Given the description of an element on the screen output the (x, y) to click on. 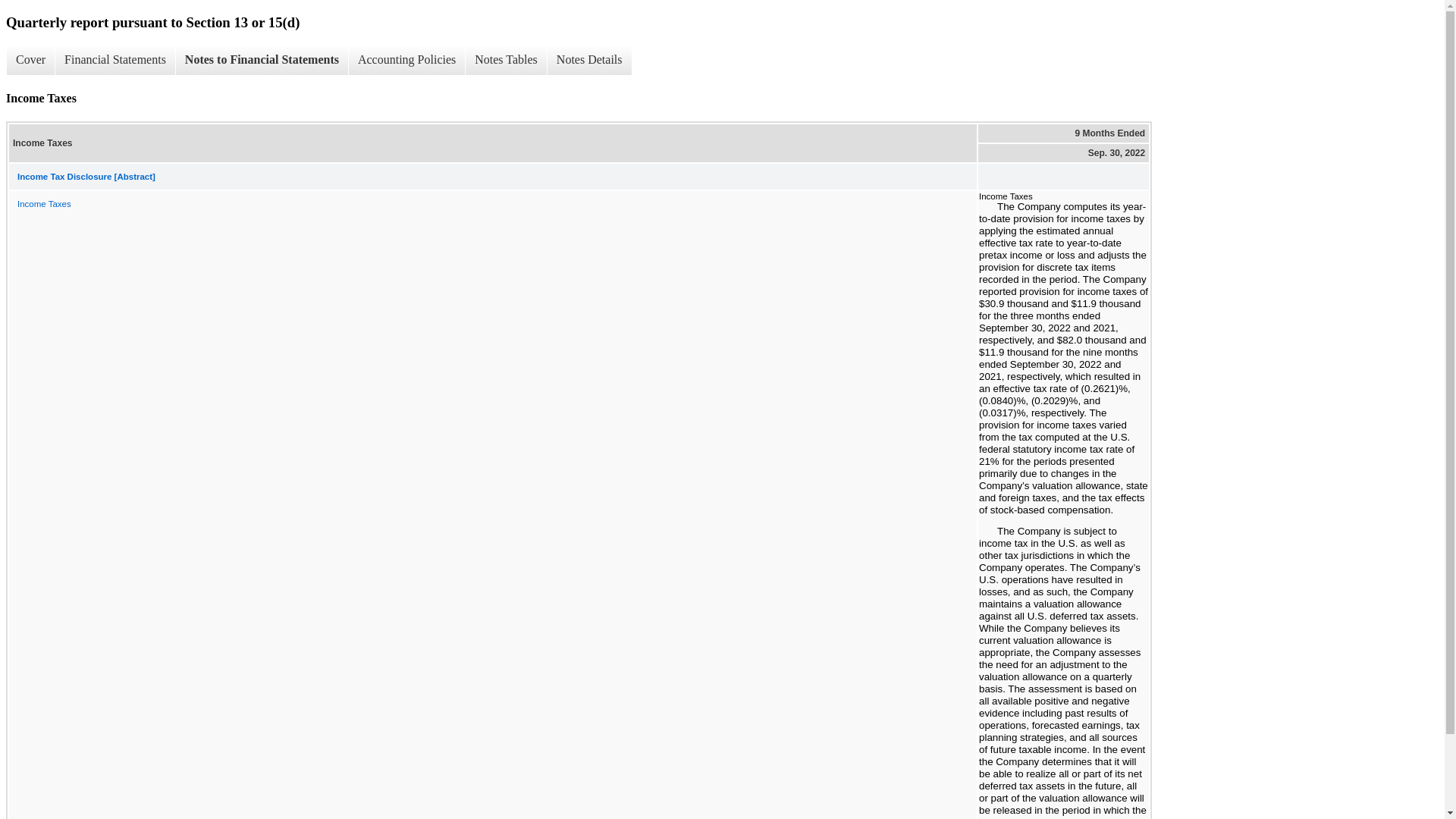
Notes to Financial Statements (260, 60)
Cover (30, 60)
Notes Details (589, 60)
Accounting Policies (405, 60)
Financial Statements (114, 60)
Notes Tables (505, 60)
